Given the description of an element on the screen output the (x, y) to click on. 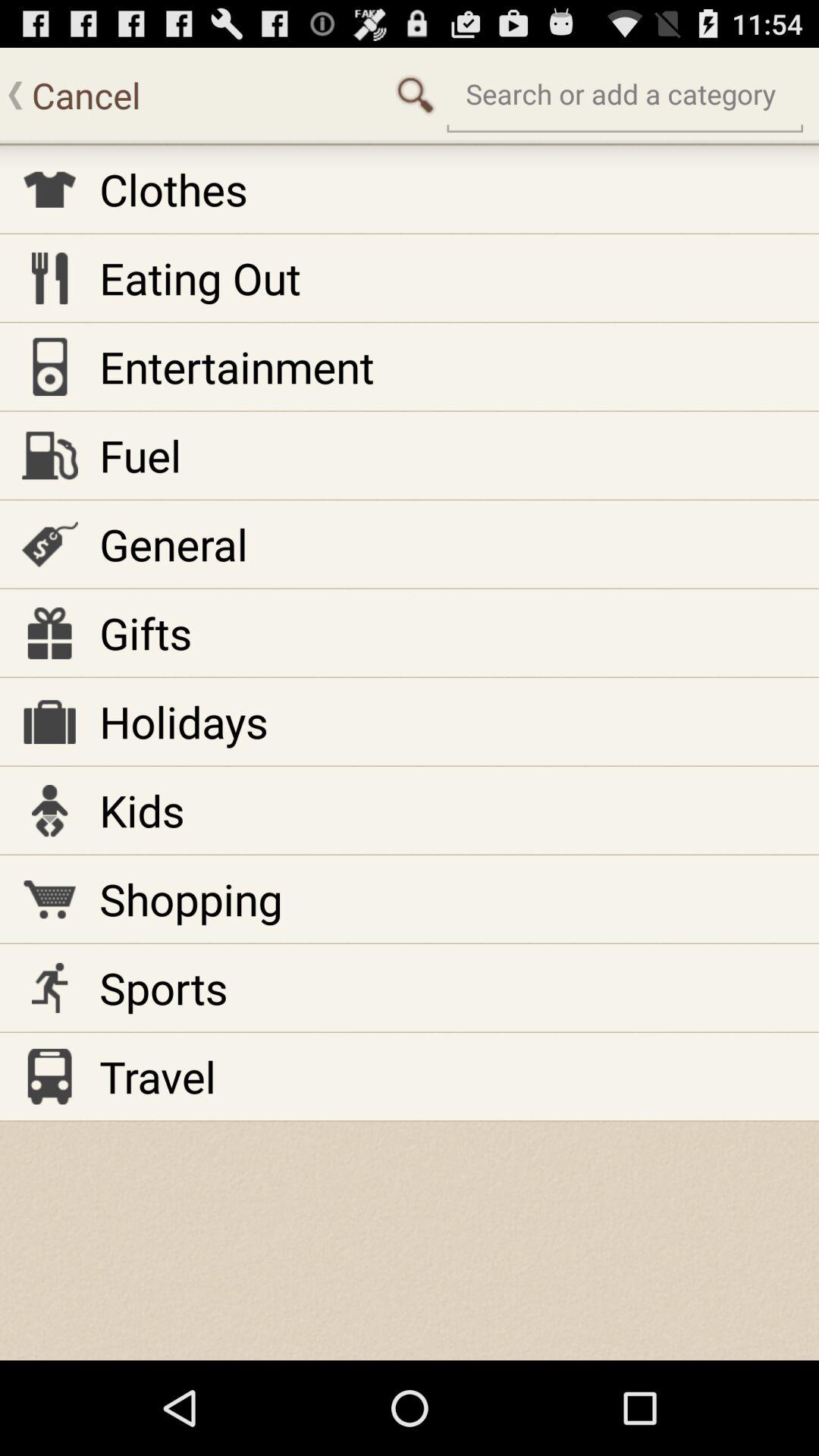
choose the icon below kids (190, 898)
